Given the description of an element on the screen output the (x, y) to click on. 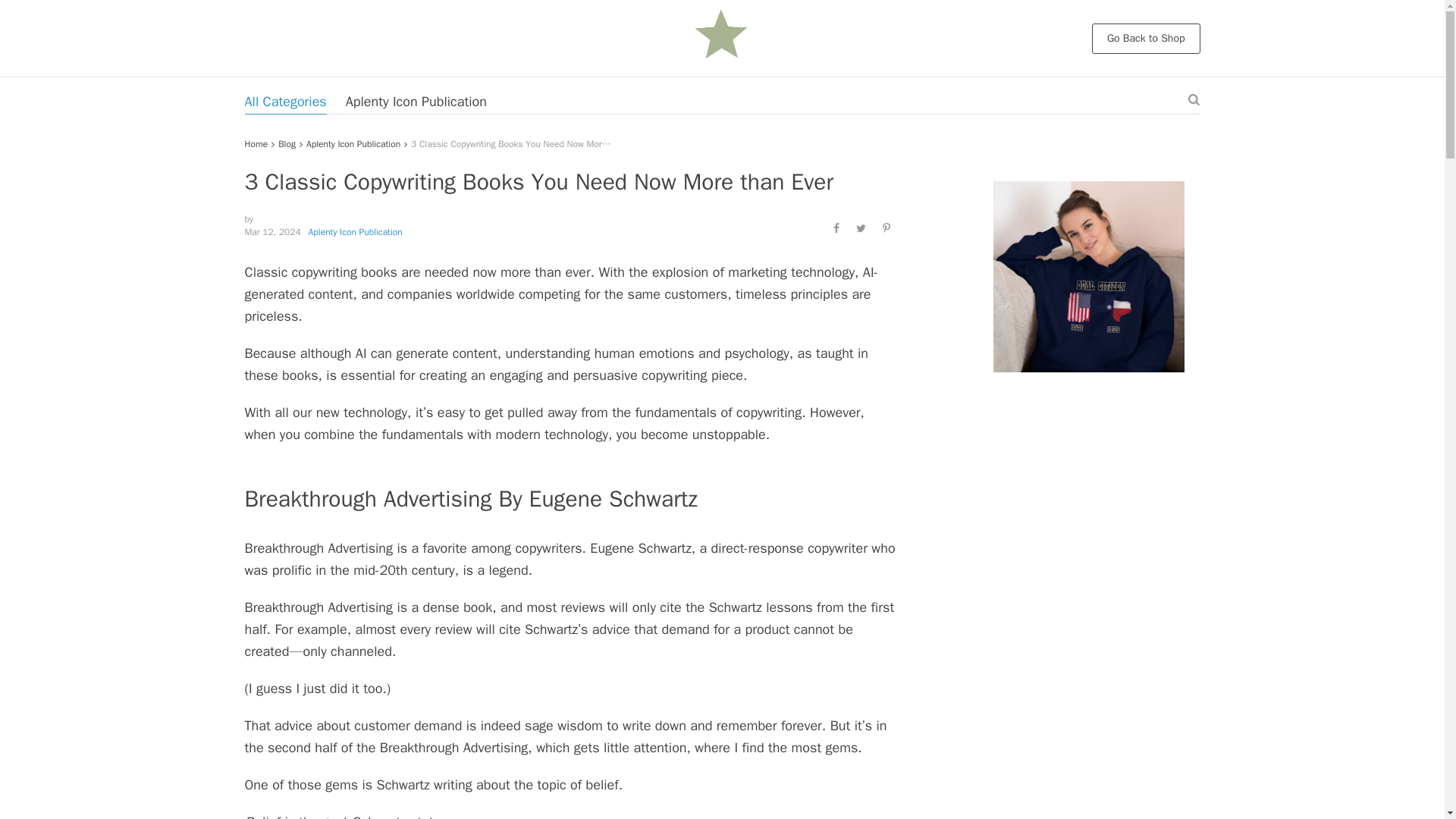
All Categories (285, 101)
Aplenty Icon Publication (416, 101)
Home (255, 143)
Aplenty Icon Publication (355, 232)
Aplenty Icon Publication (352, 143)
Go Back to Shop (1145, 37)
Blog (286, 143)
